Given the description of an element on the screen output the (x, y) to click on. 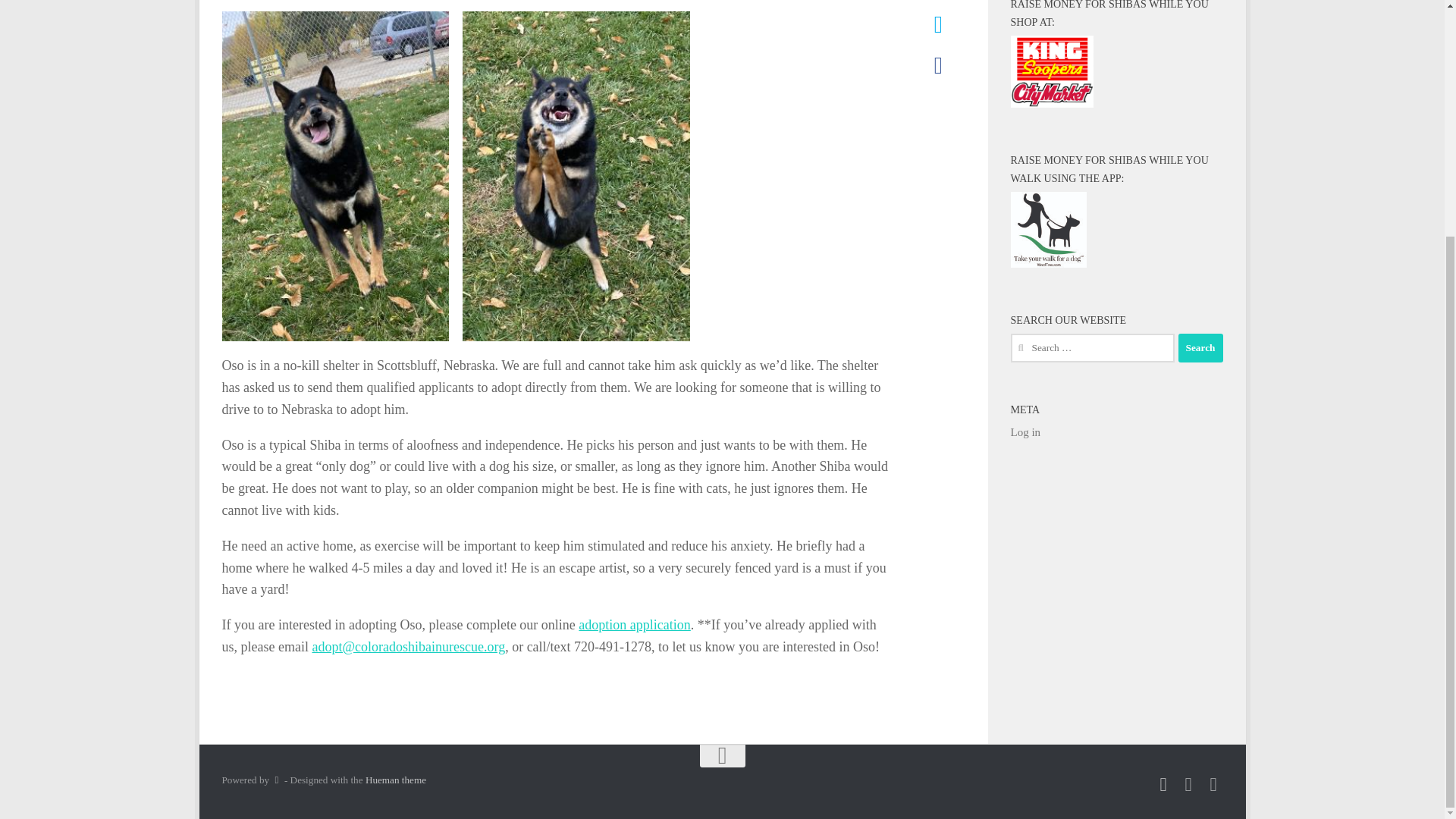
Follow us on Instagram (1186, 783)
Follow us on Twitter (1213, 783)
Search (1200, 347)
Raise money for Shibas while you shop at: (1051, 71)
Powered by WordPress (275, 779)
Search (1200, 347)
Raise money for Shibas while you walk using the app: (1048, 229)
Follow us on Facebook (1162, 783)
Hueman theme (395, 779)
